Given the description of an element on the screen output the (x, y) to click on. 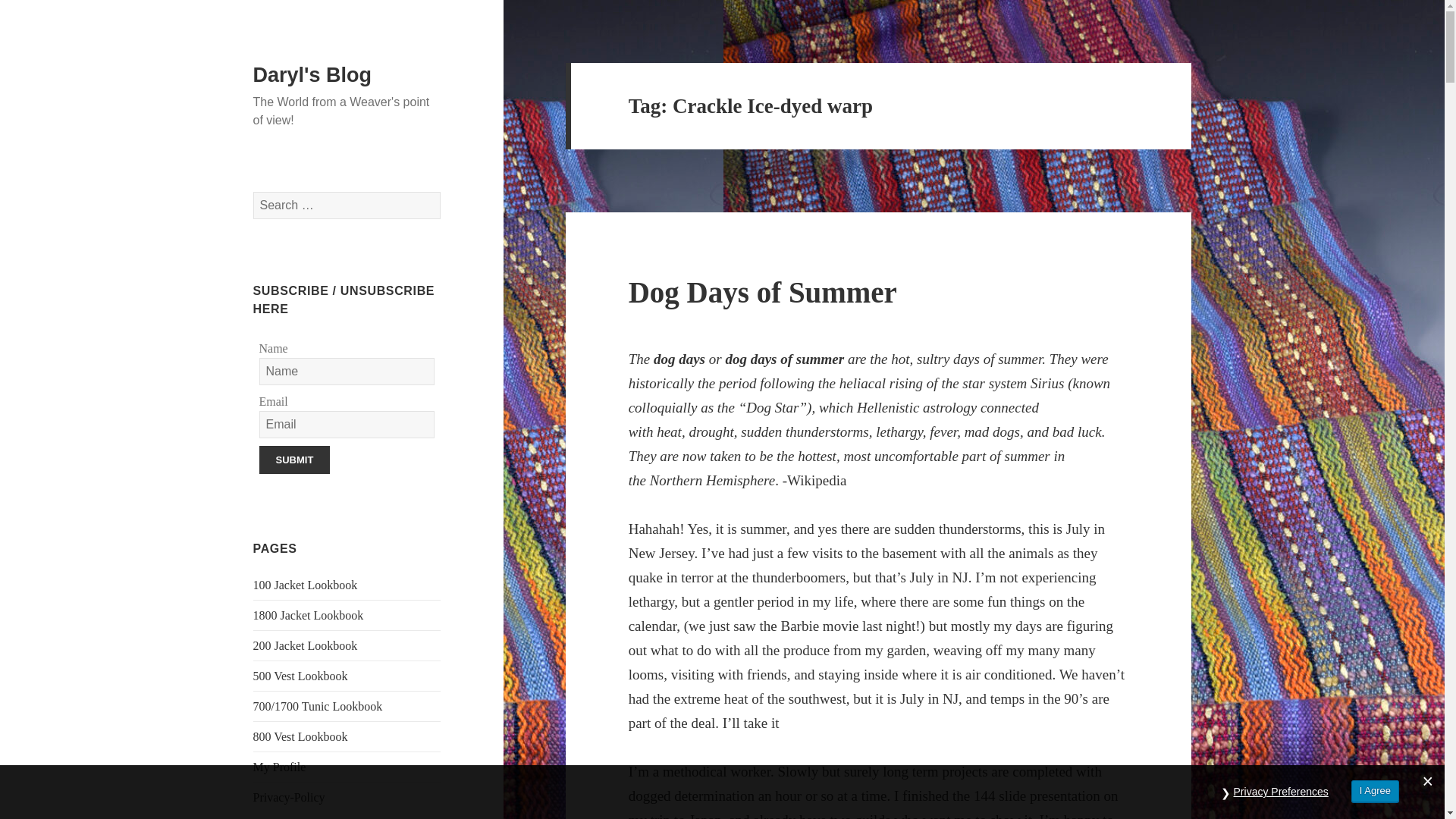
800 Vest Lookbook (300, 736)
500 Vest Lookbook (300, 675)
SUBMIT (294, 459)
Dog Days of Summer (762, 292)
Privacy-Policy (288, 797)
100 Jacket Lookbook (305, 584)
My Profile (279, 766)
Daryl's Blog (312, 74)
